Given the description of an element on the screen output the (x, y) to click on. 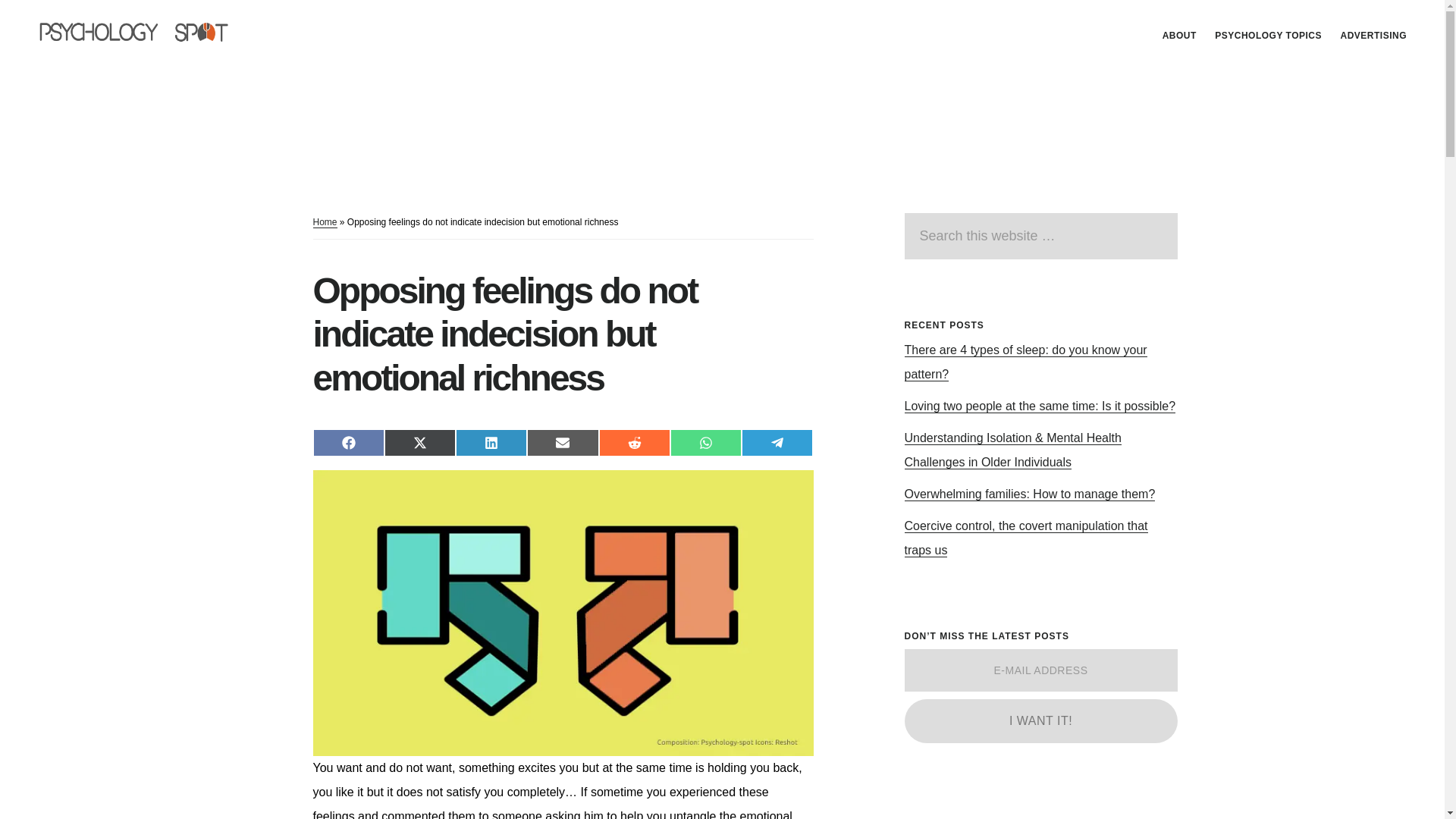
I Want It! (1040, 720)
SHARE ON TELEGRAM (776, 442)
SHARE ON LINKEDIN (491, 442)
ABOUT (1179, 35)
ADVERTISING (1372, 35)
Home (324, 222)
PSYCHOLOGY SPOT (143, 32)
Advertisement (1017, 811)
There are 4 types of sleep: do you know your pattern? (1025, 362)
SHARE ON REDDIT (633, 442)
PSYCHOLOGY TOPICS (1268, 35)
SHARE ON WHATSAPP (705, 442)
